Given the description of an element on the screen output the (x, y) to click on. 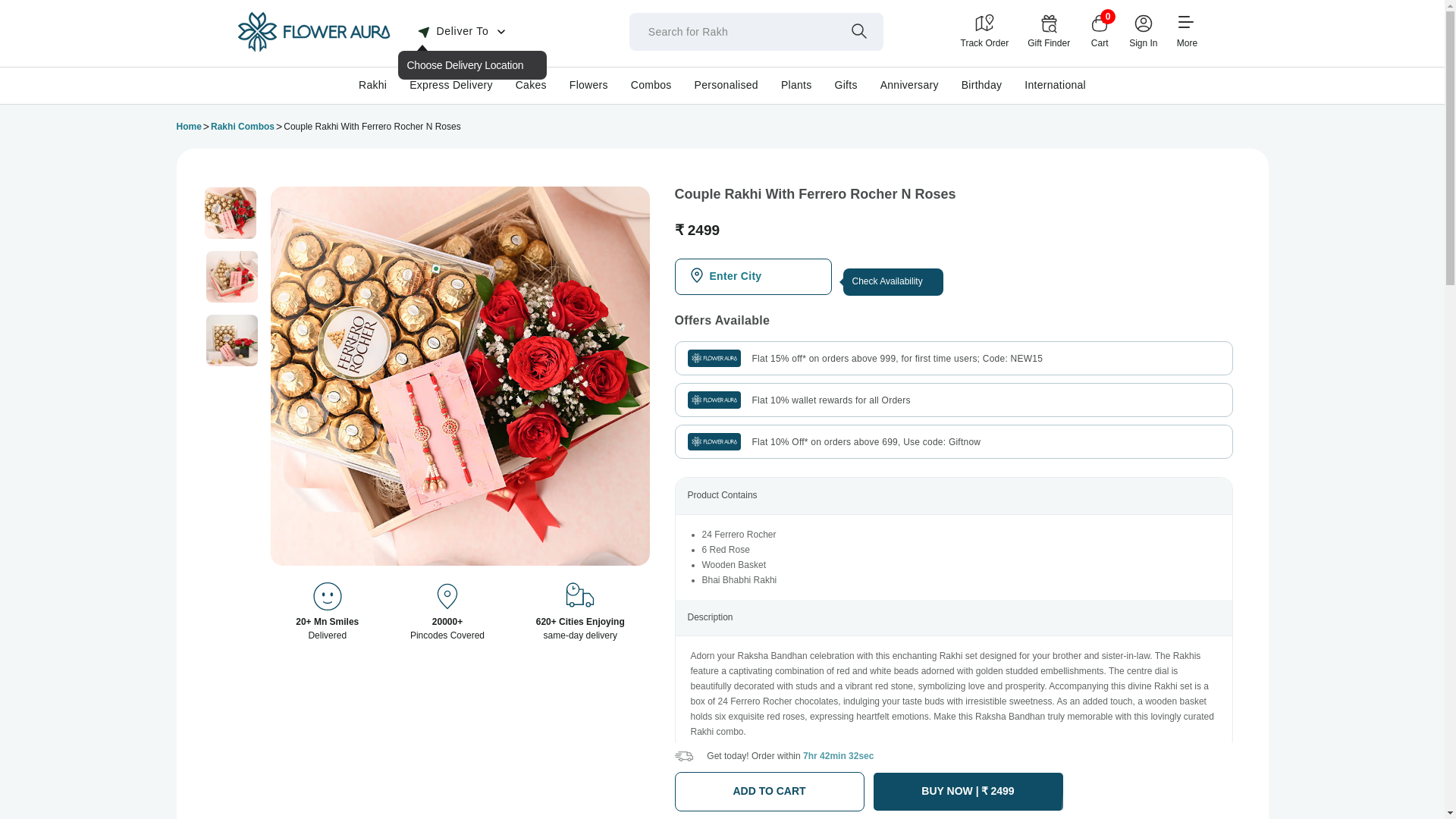
Track Order (984, 31)
Rakhi (372, 84)
Delivered (327, 597)
Couple Rakhi With Ferrero Rocher N Roses (230, 213)
Track Order (984, 31)
Rakhi Combos (243, 127)
Home (188, 127)
Delivered (447, 597)
Home (312, 48)
